Given the description of an element on the screen output the (x, y) to click on. 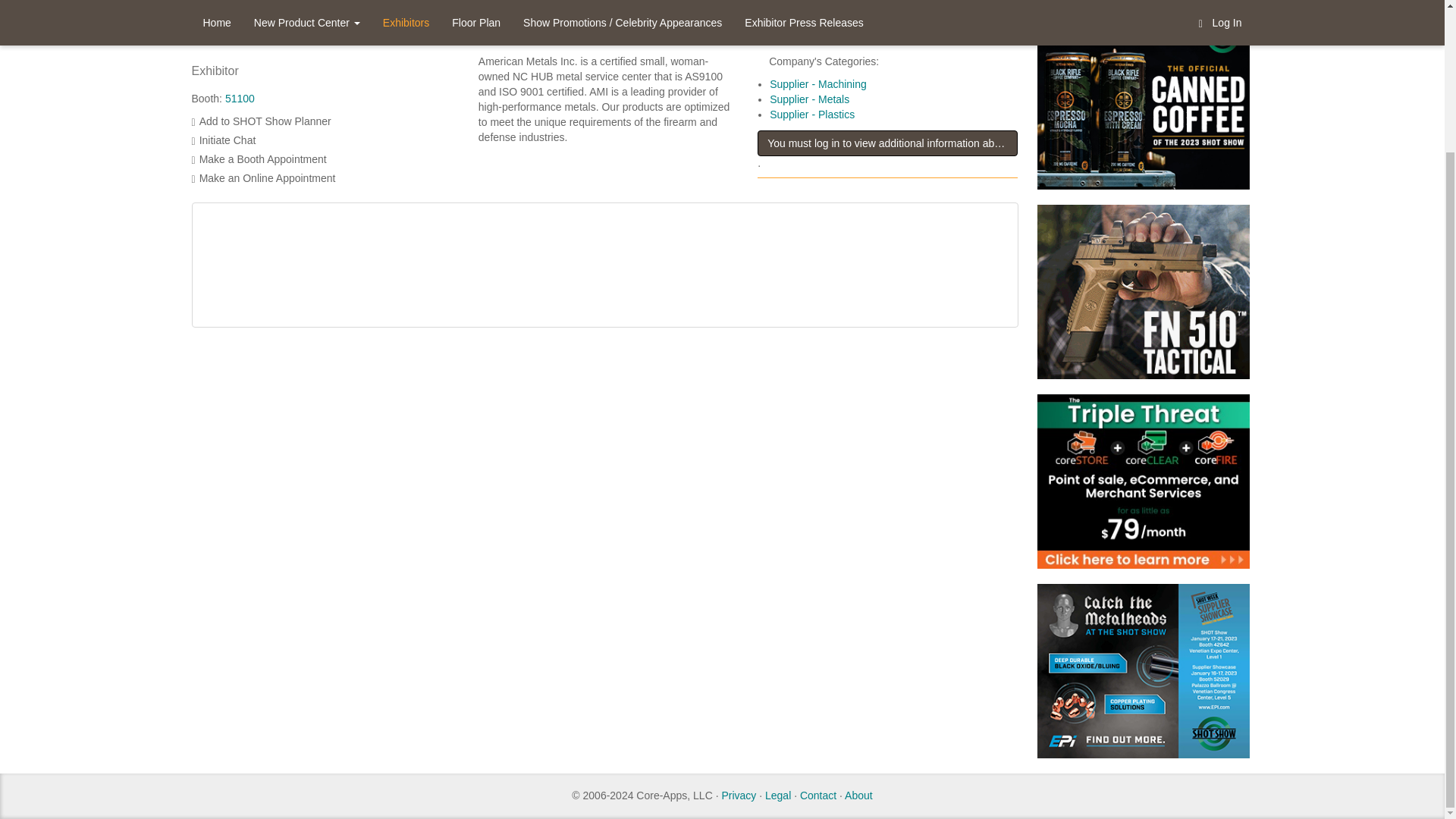
About (858, 795)
Legal (777, 795)
Supplier - Machining (818, 83)
51100 (239, 98)
Supplier - Plastics (812, 114)
Banner (1135, 109)
Banner (1135, 678)
Contact (817, 795)
Supplier - Metals (809, 99)
Privacy (737, 795)
Banner (1135, 298)
Banner (1135, 488)
